Given the description of an element on the screen output the (x, y) to click on. 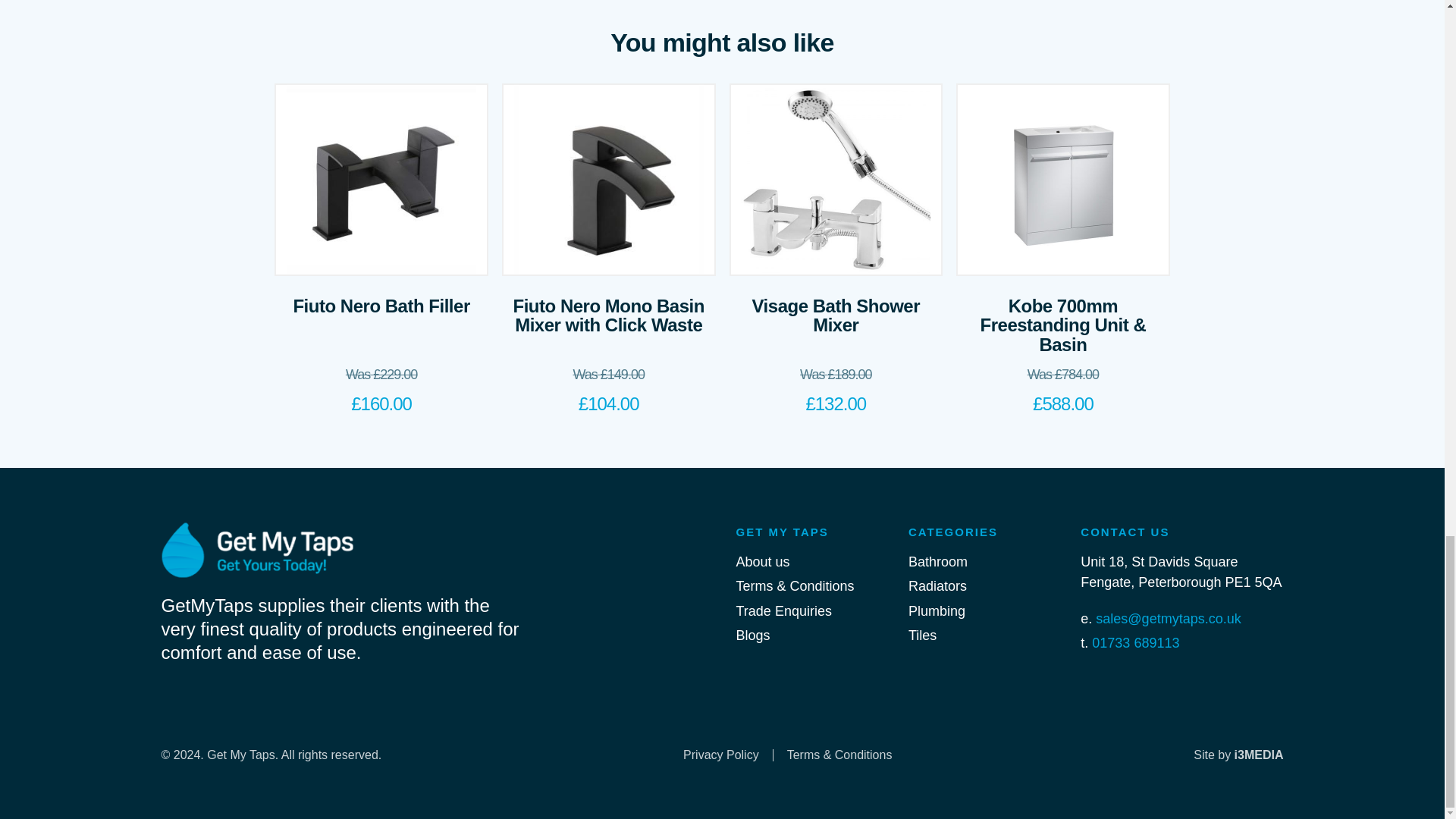
Website by i3MEDIA (1237, 754)
Get My Taps (347, 550)
